Given the description of an element on the screen output the (x, y) to click on. 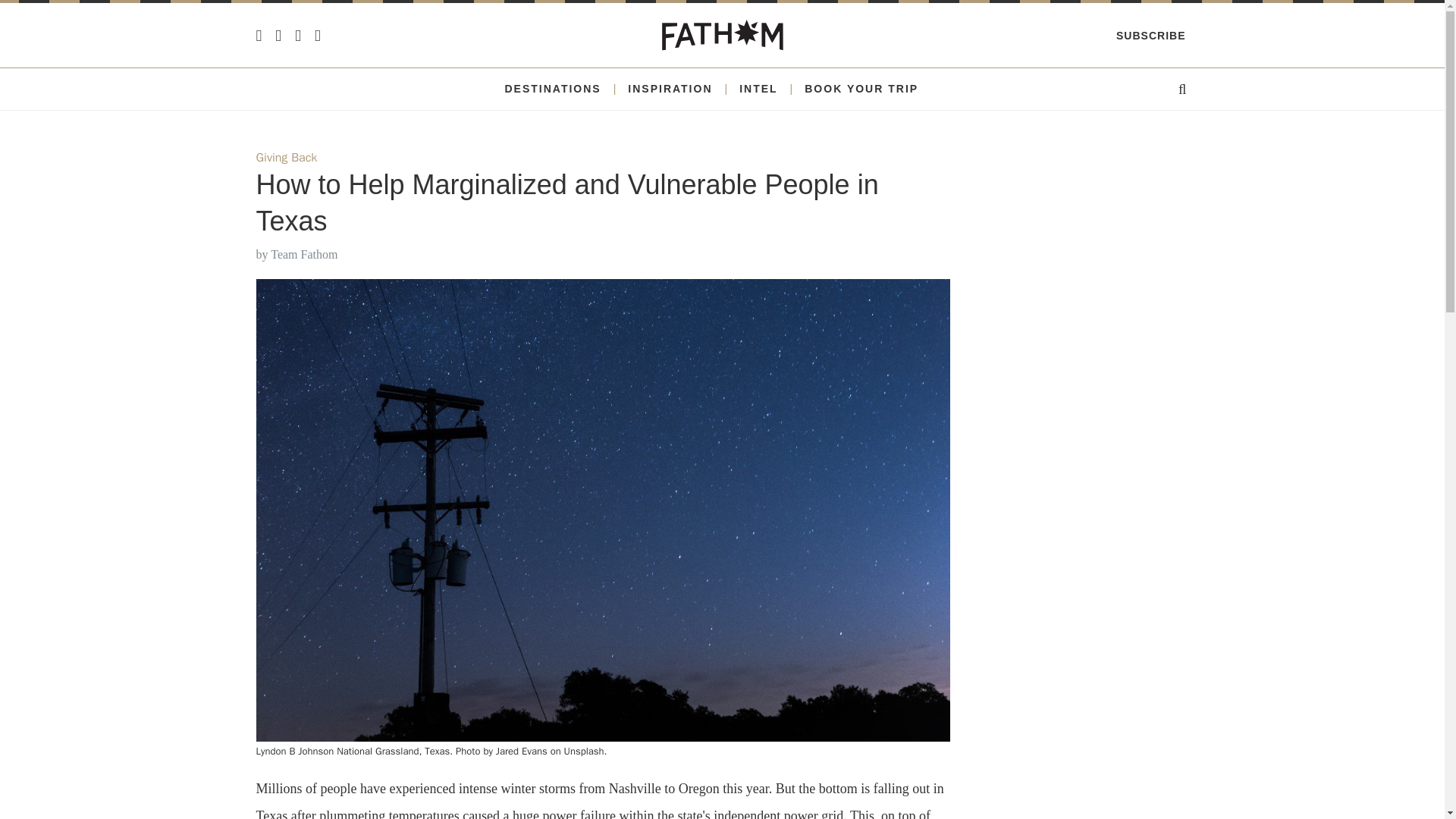
DESTINATIONS (551, 89)
INTEL (758, 89)
INSPIRATION (669, 89)
Giving Back (286, 157)
Unsplash (584, 750)
Team Fathom (303, 254)
SUBSCRIBE (1150, 34)
BOOK YOUR TRIP (861, 89)
